Given the description of an element on the screen output the (x, y) to click on. 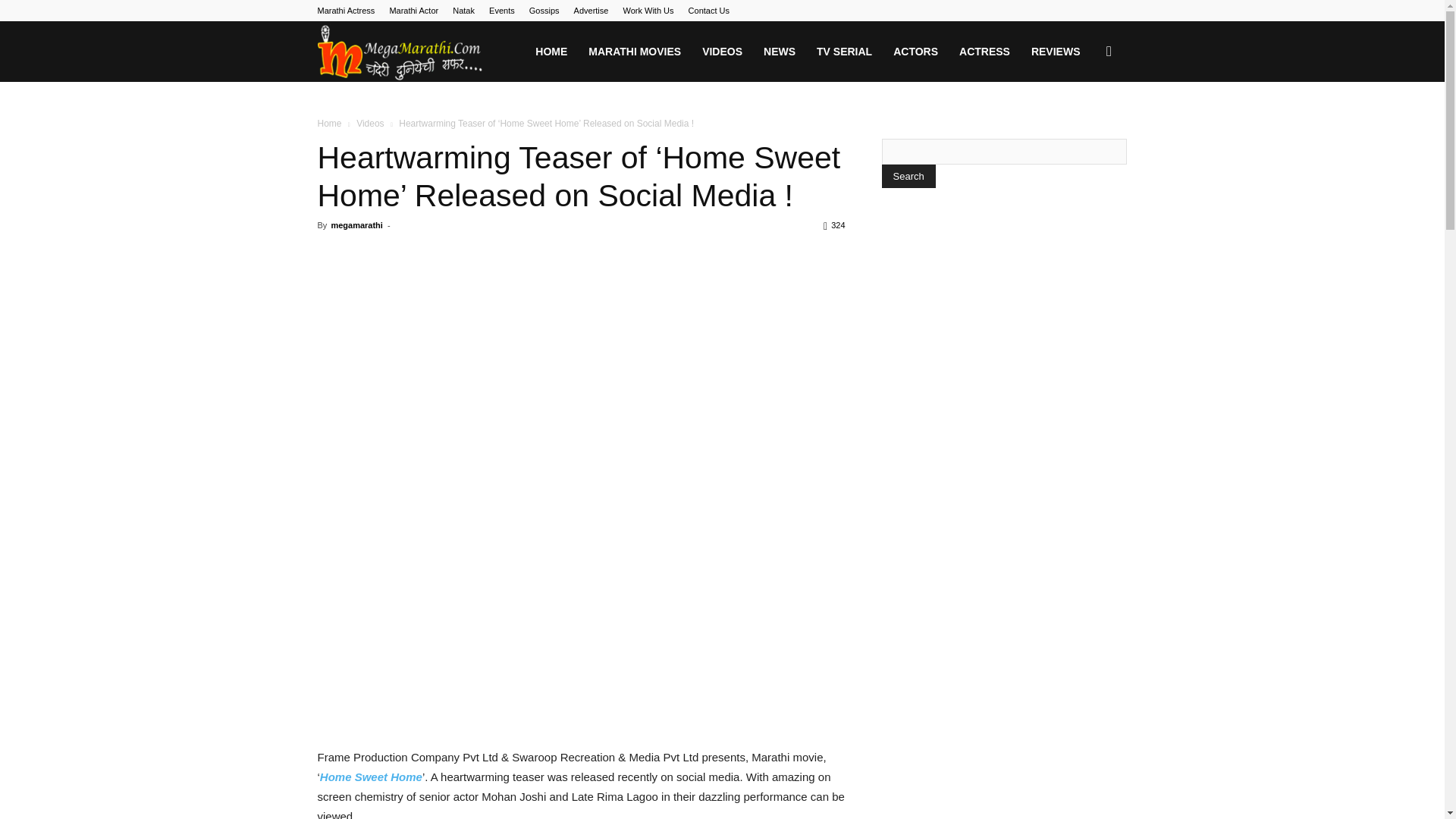
Gossips (544, 10)
Search (907, 176)
Marathi Actor (413, 10)
Advertise (590, 10)
Events (502, 10)
Work With Us (648, 10)
Contact Us (708, 10)
MARATHI MOVIES (634, 51)
Search (1085, 124)
MegaMarathi.Com (400, 51)
